Given the description of an element on the screen output the (x, y) to click on. 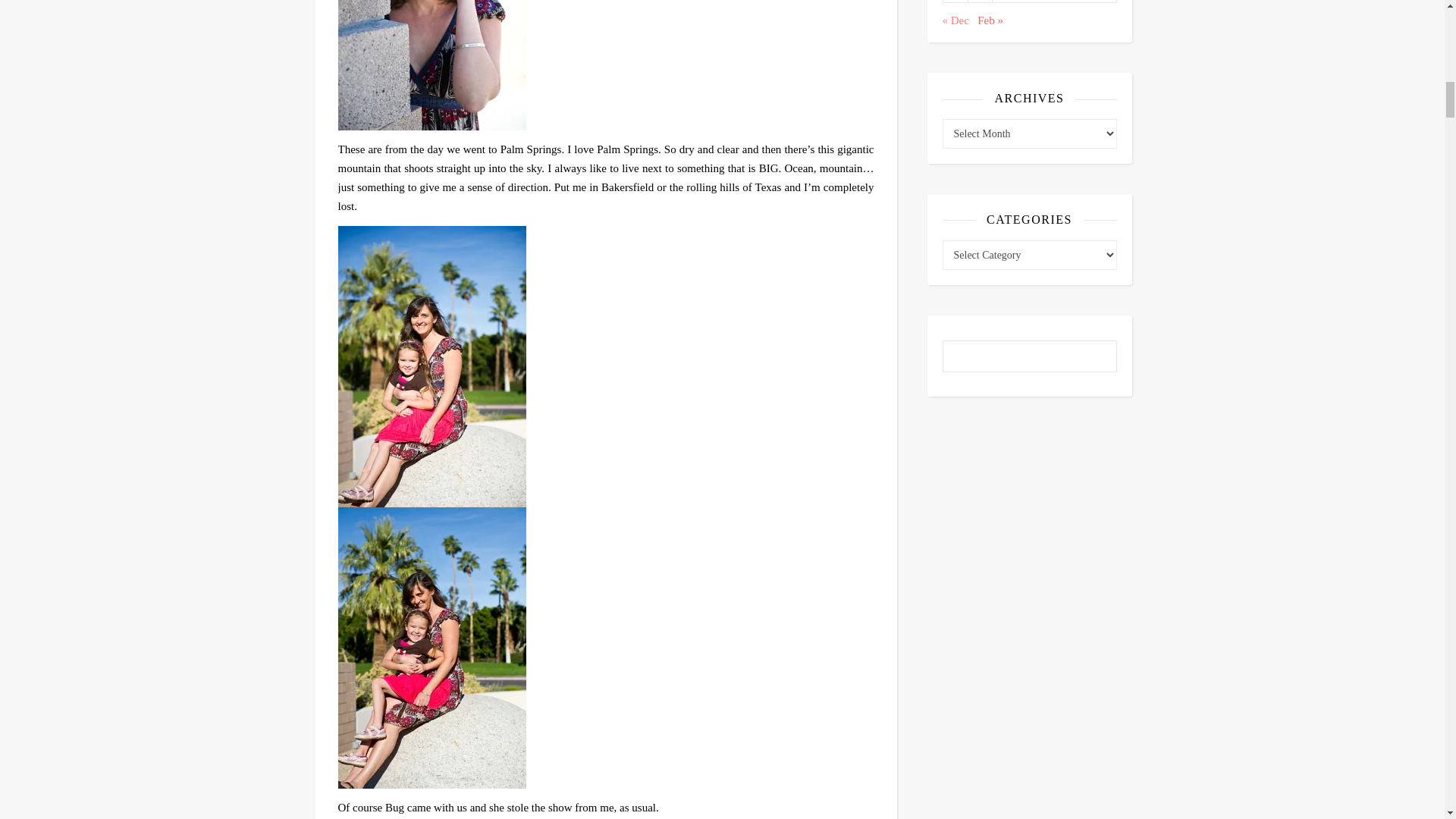
BrendaPonnay-3 by secret agent josephine, on Flickr (606, 64)
